Given the description of an element on the screen output the (x, y) to click on. 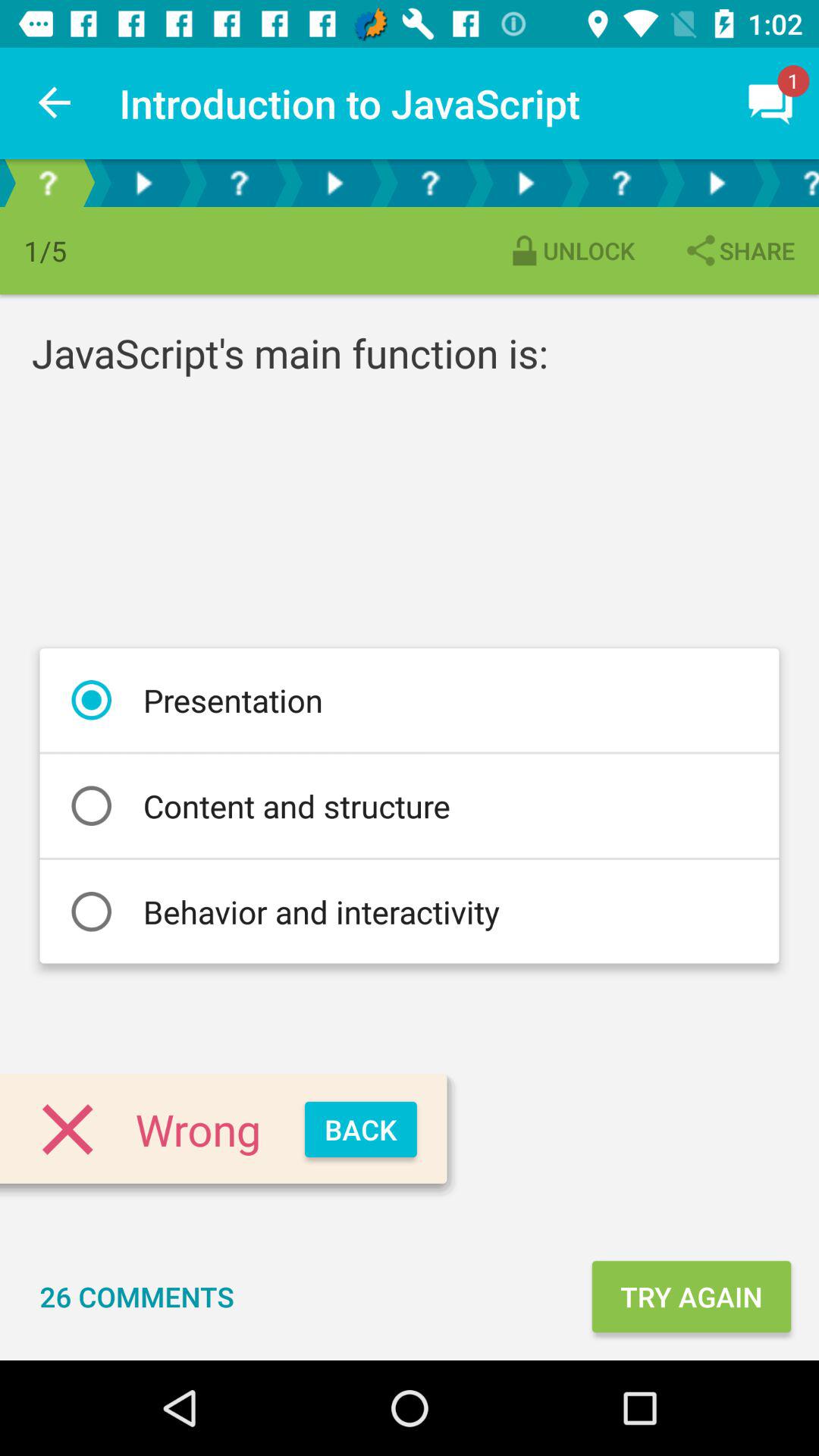
click the item above presentation item (738, 250)
